Given the description of an element on the screen output the (x, y) to click on. 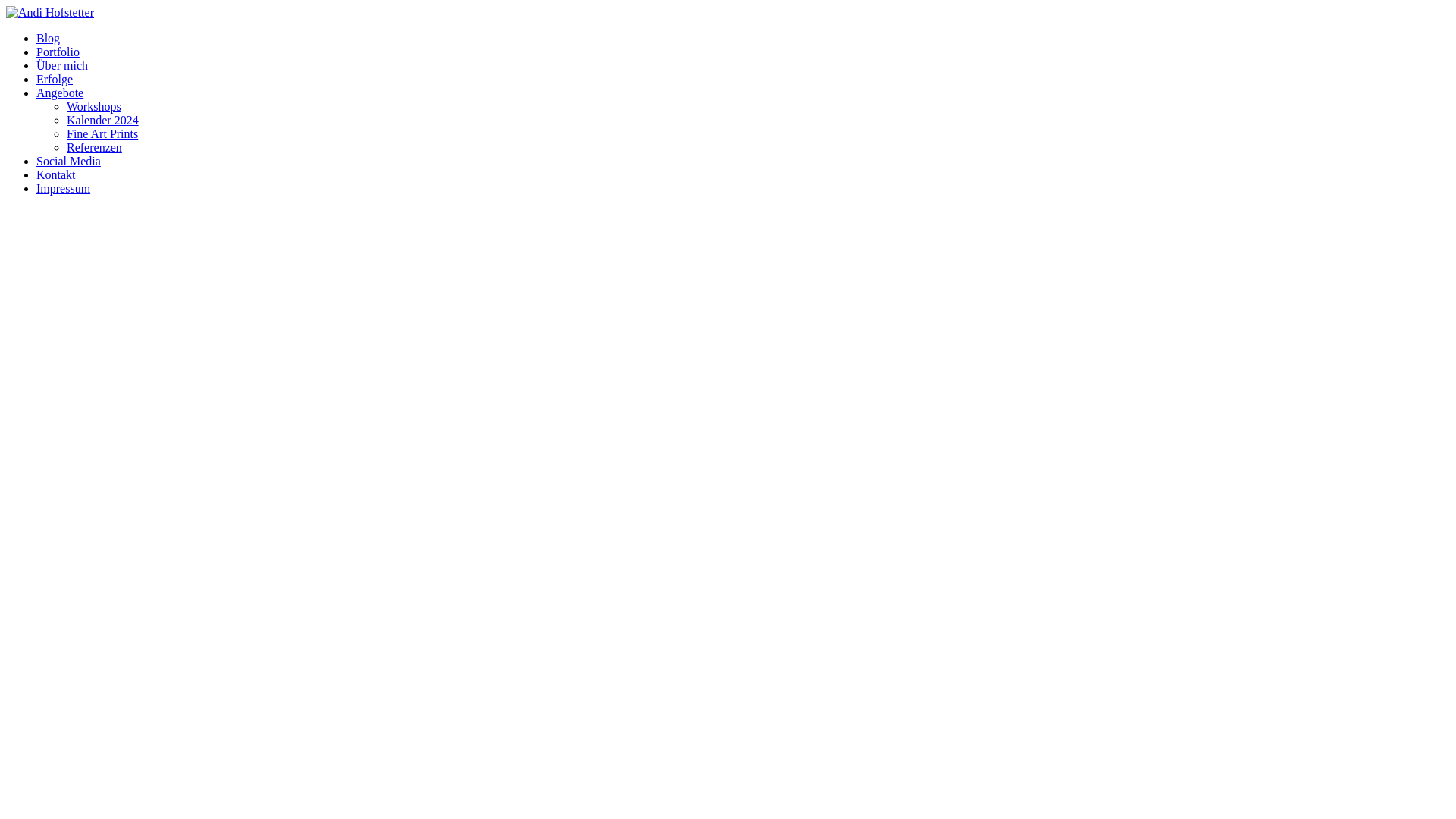
Kontakt Element type: text (55, 174)
Fine Art Prints Element type: text (102, 133)
Kalender 2024 Element type: text (102, 119)
Erfolge Element type: text (54, 78)
Workshops Element type: text (93, 106)
Andi Hofstetter Element type: hover (50, 12)
Social Media Element type: text (68, 160)
Angebote Element type: text (59, 92)
Portfolio Element type: text (57, 51)
Impressum Element type: text (63, 188)
Blog Element type: text (47, 37)
Referenzen Element type: text (94, 147)
